Given the description of an element on the screen output the (x, y) to click on. 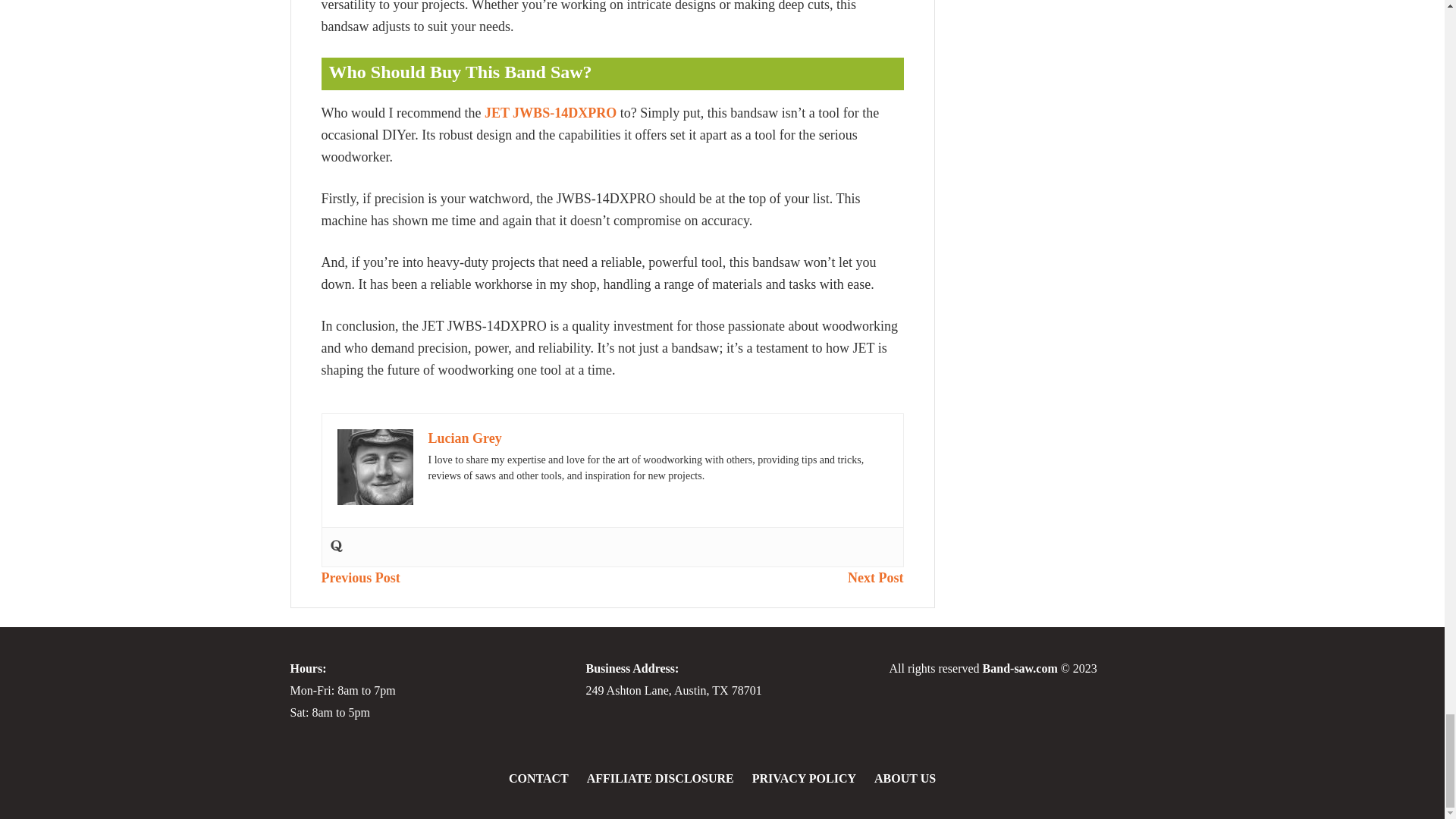
Previous Post (360, 577)
Lucian Grey (464, 437)
Next Post (874, 577)
JET JWBS-14DXPRO (549, 112)
